Given the description of an element on the screen output the (x, y) to click on. 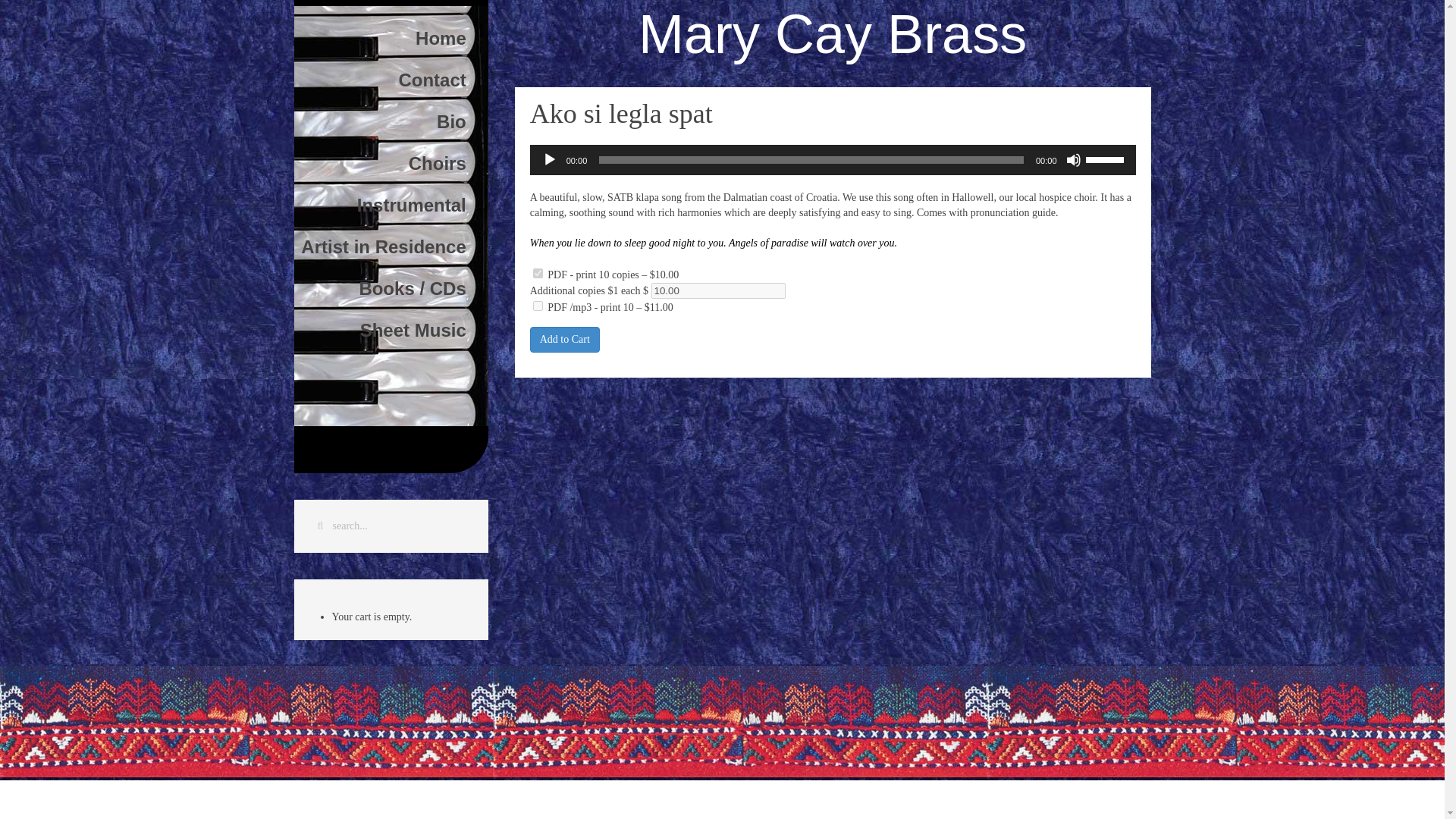
Artist in Residence (390, 244)
Mute (1073, 159)
Login (390, 402)
10.00 (718, 290)
2 (537, 306)
Sheet Music (390, 327)
Mary Cay Brass (832, 34)
Bio (390, 119)
1 (537, 273)
Home (390, 35)
Contact (390, 77)
Instrumental (390, 202)
Choirs (390, 160)
Add to Cart (37, 12)
Play (549, 159)
